Given the description of an element on the screen output the (x, y) to click on. 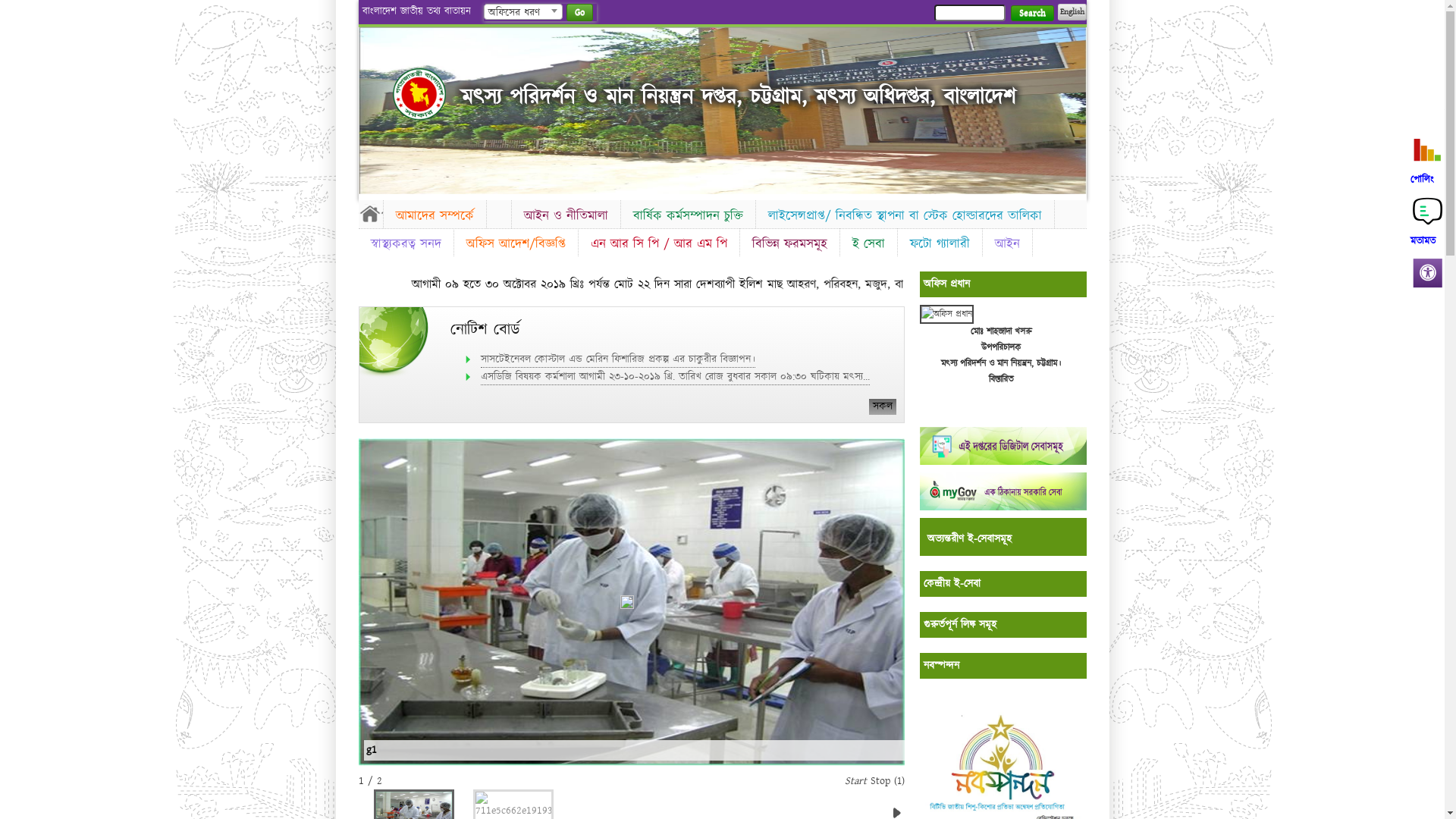
Next Element type: text (1071, 106)
Go Element type: text (578, 12)
Search Element type: text (1031, 13)
Previous Element type: text (371, 106)
English Element type: text (1071, 11)

					
				 Element type: hover (418, 93)
